Given the description of an element on the screen output the (x, y) to click on. 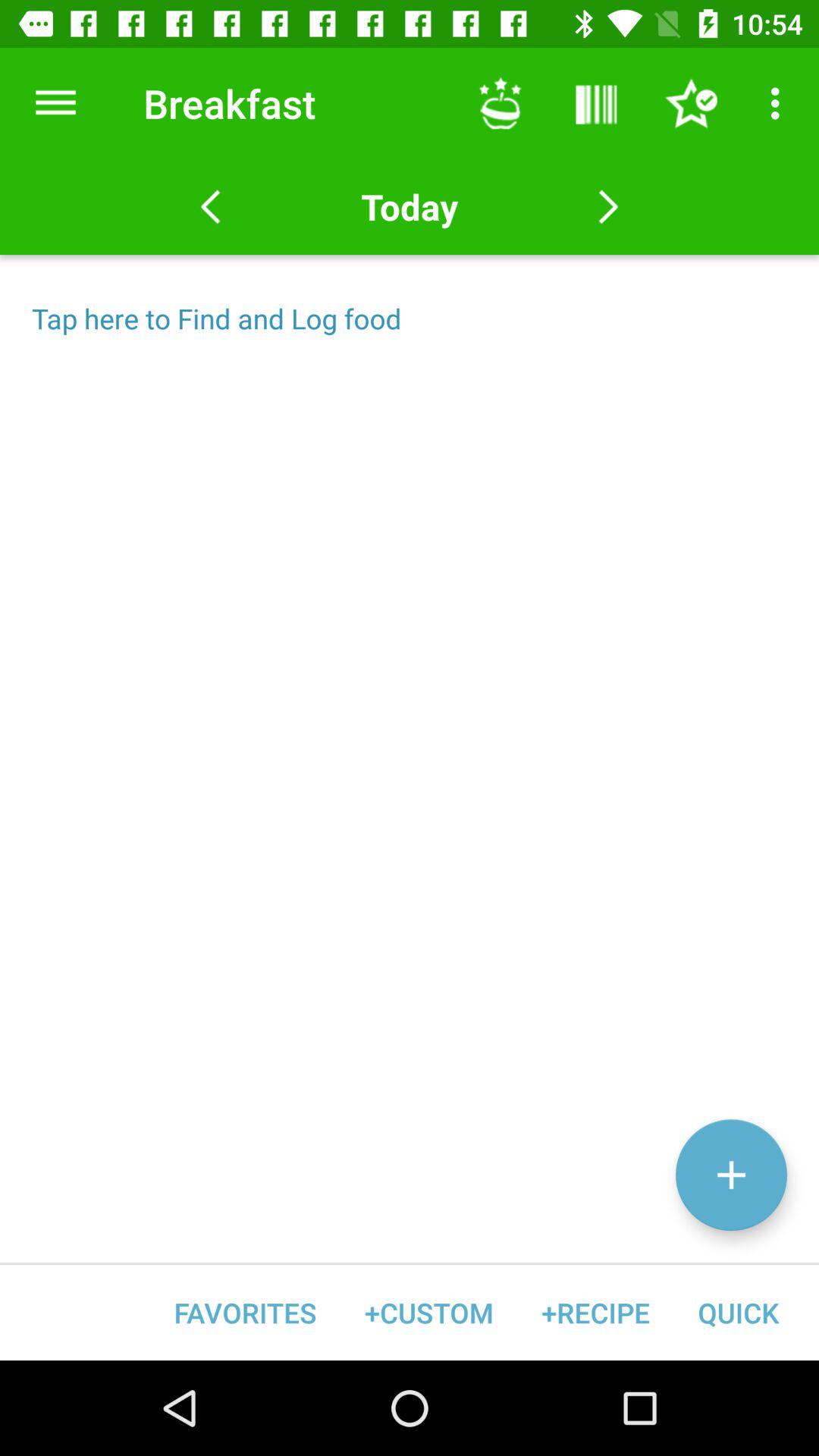
choose the today icon (409, 206)
